Given the description of an element on the screen output the (x, y) to click on. 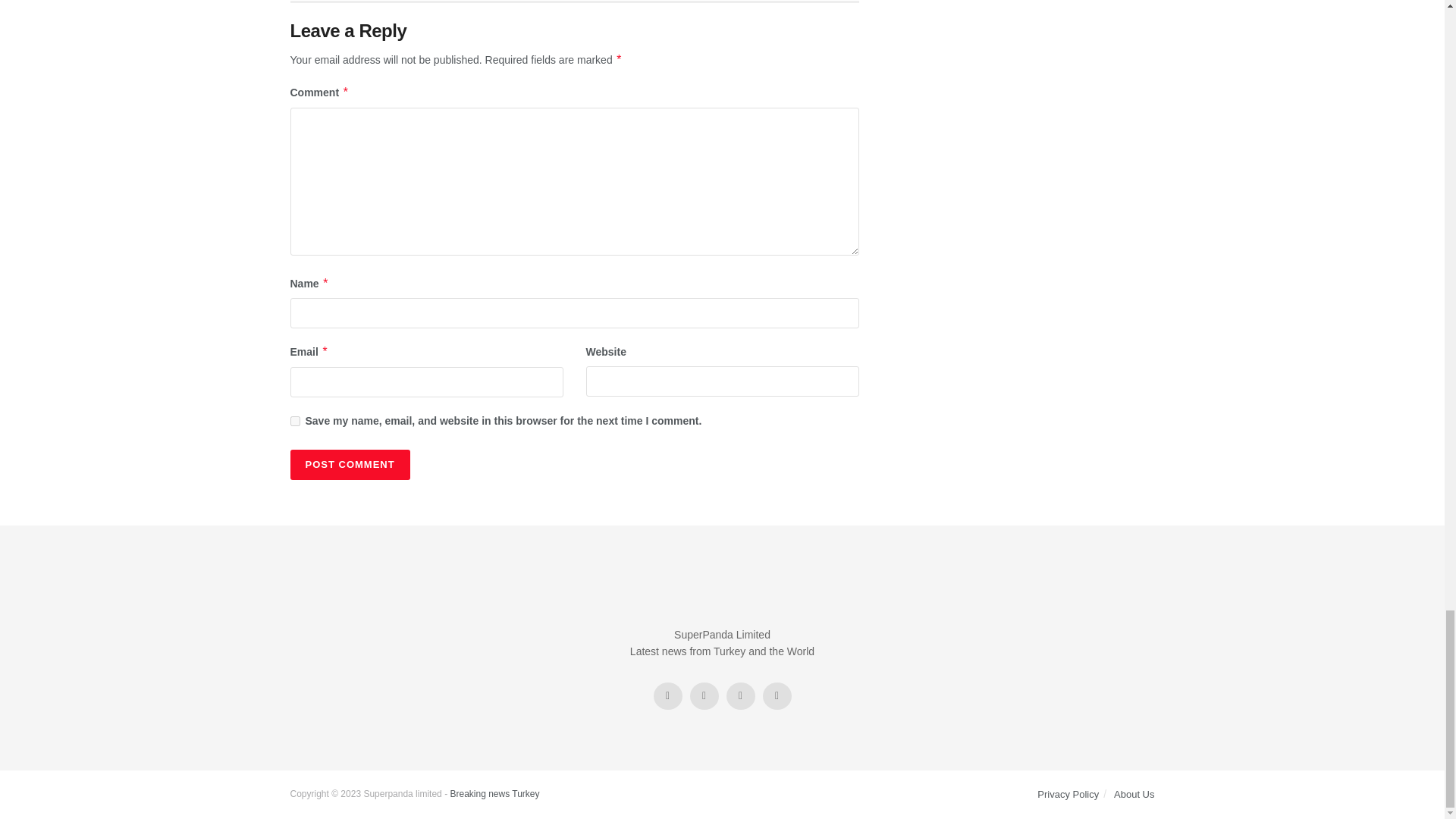
Post Comment (349, 464)
Breaking news Turkey (493, 793)
yes (294, 420)
